Given the description of an element on the screen output the (x, y) to click on. 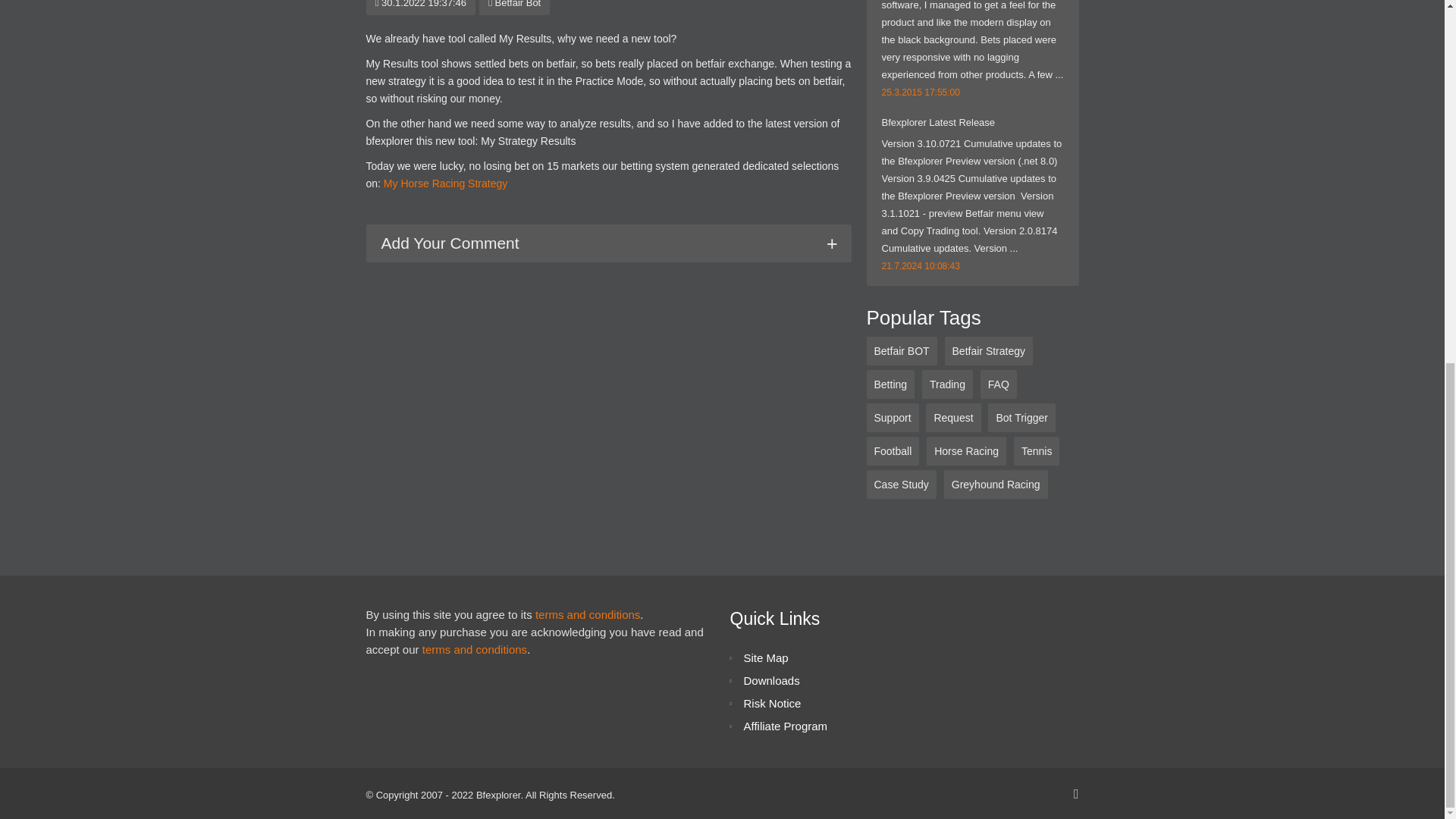
Bfexplorer Latest Release (937, 122)
My Horse Racing Strategy (445, 183)
Betfair Bot (513, 4)
Betfair BOT (901, 350)
